Given the description of an element on the screen output the (x, y) to click on. 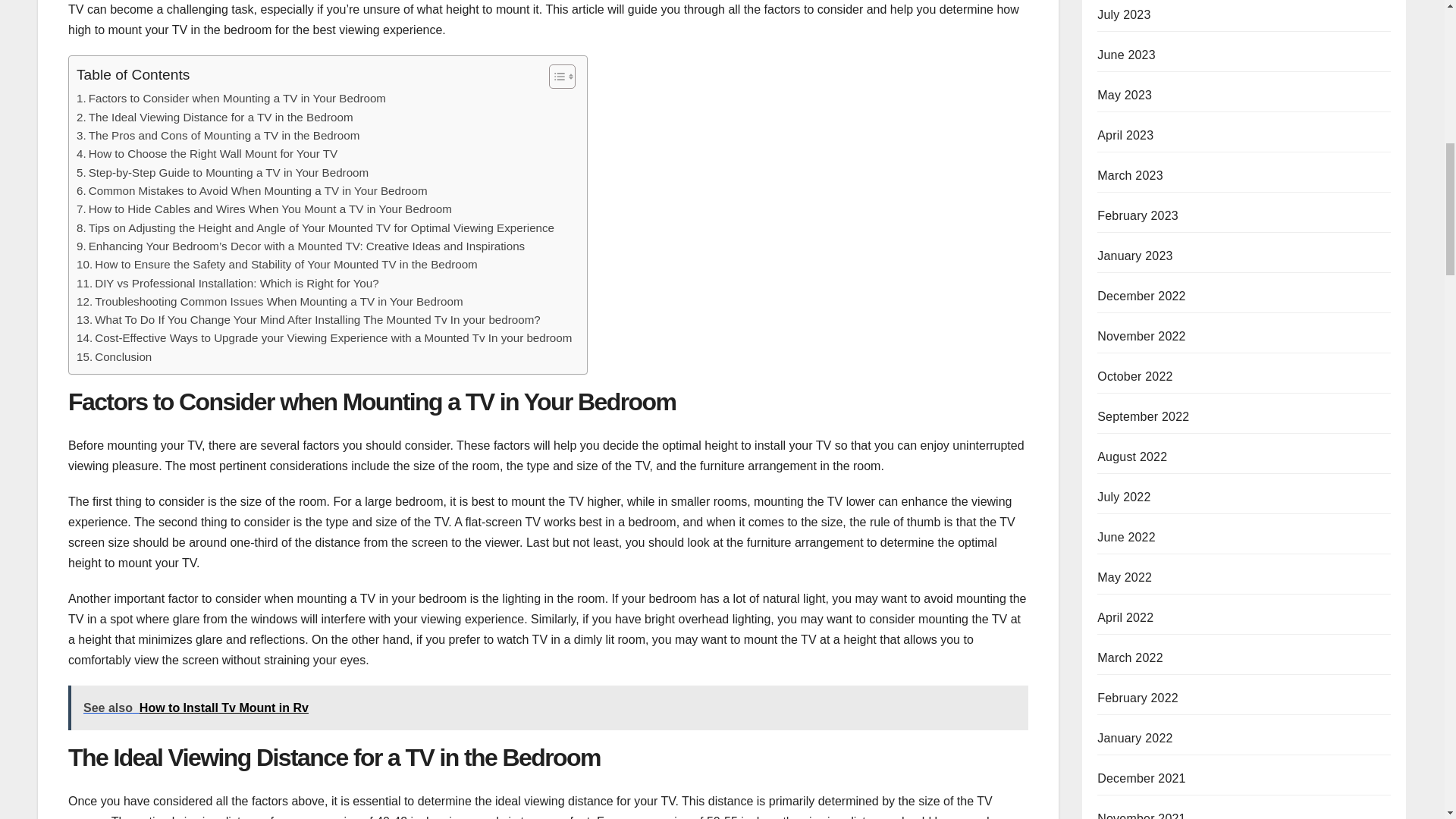
How to Choose the Right Wall Mount for Your TV (207, 153)
The Pros and Cons of Mounting a TV in the Bedroom (218, 135)
Common Mistakes to Avoid When Mounting a TV in Your Bedroom (252, 190)
Factors to Consider when Mounting a TV in Your Bedroom (231, 98)
How to Choose the Right Wall Mount for Your TV (207, 153)
Step-by-Step Guide to Mounting a TV in Your Bedroom (222, 172)
The Ideal Viewing Distance for a TV in the Bedroom (215, 117)
